Given the description of an element on the screen output the (x, y) to click on. 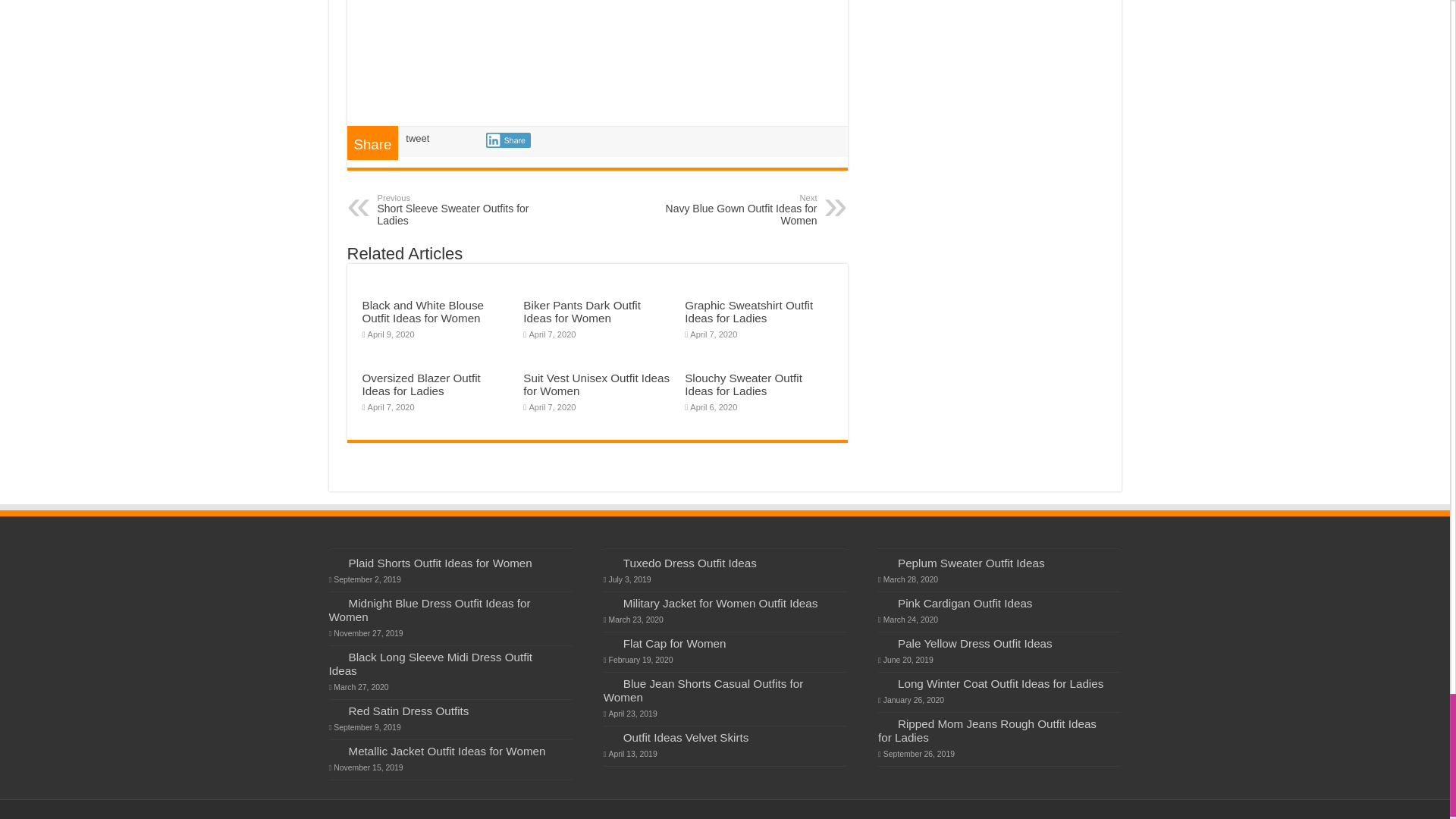
Suit Vest Unisex Outfit Ideas for Women (595, 384)
Graphic Sweatshirt Outfit Ideas for Ladies (748, 311)
Share (508, 140)
Plaid Shorts Outfit Ideas for Women (440, 562)
Slouchy Sweater Outfit Ideas for Ladies (743, 384)
Black and White Blouse Outfit Ideas for Women (454, 209)
Biker Pants Dark Outfit Ideas for Women (423, 311)
tweet (581, 311)
